Given the description of an element on the screen output the (x, y) to click on. 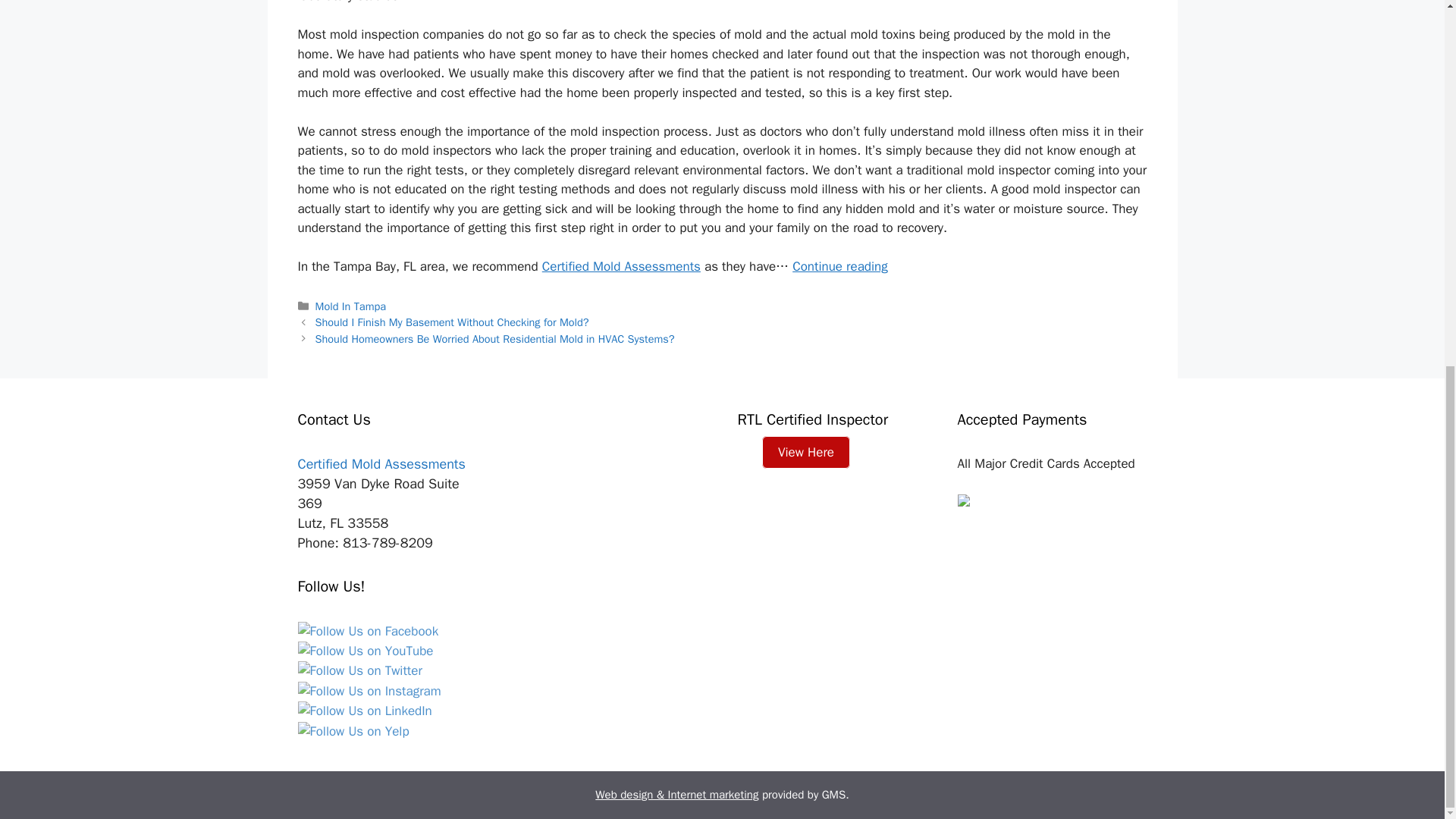
Certified Mold Assessments (391, 464)
Follow Us on Instagram (369, 691)
Continue reading (840, 266)
Certified Mold Assessments (620, 266)
Follow Us on Yelp (353, 731)
Mold In Tampa (350, 305)
Follow Us on Facebook (367, 631)
View Here (805, 451)
Follow Us on YouTube (364, 650)
